Given the description of an element on the screen output the (x, y) to click on. 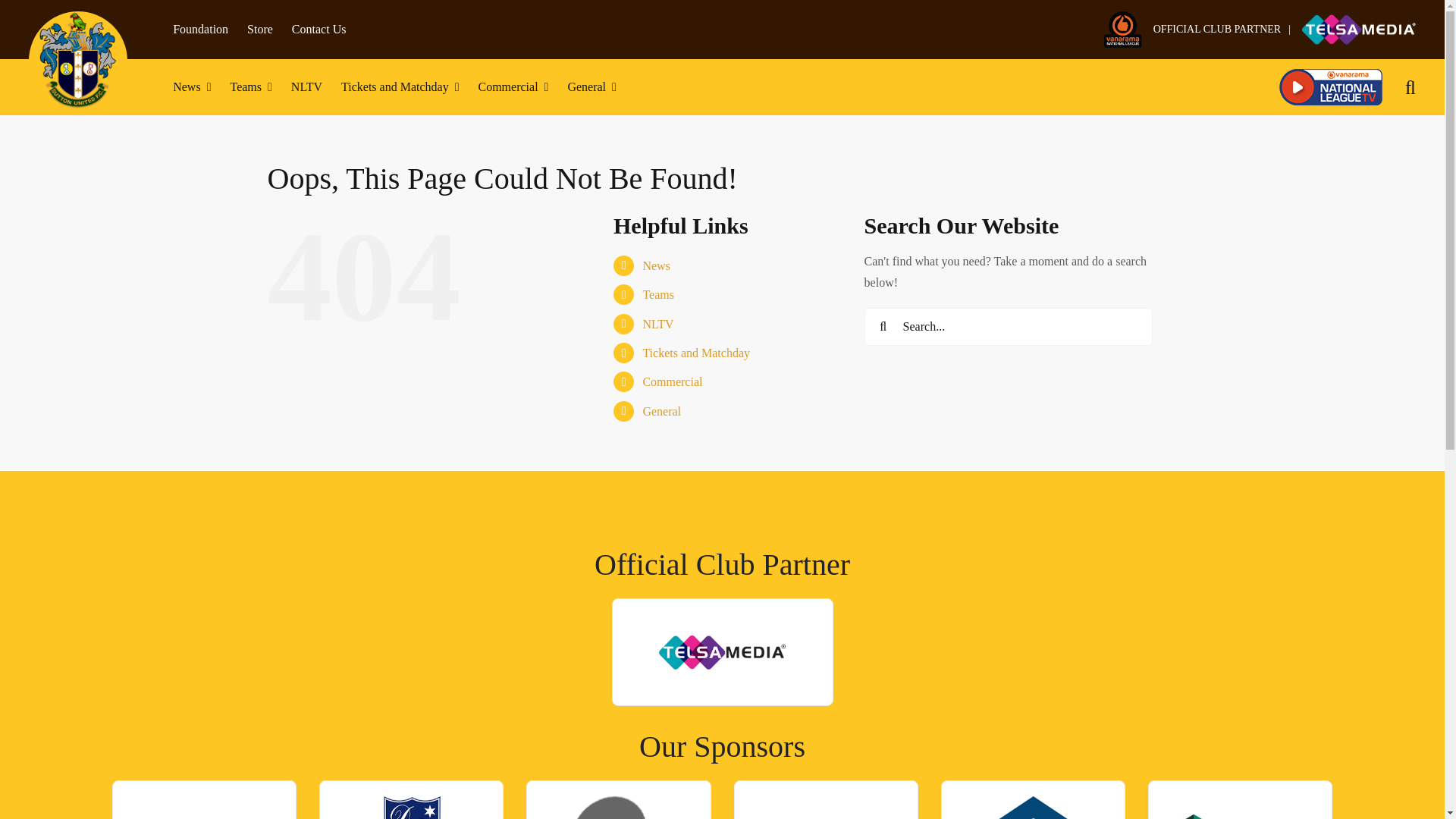
Foundation (200, 29)
Teams (250, 86)
Commercial (512, 86)
News (192, 86)
Contact Us (319, 29)
Tickets and Matchday (399, 86)
Store (260, 29)
